Given the description of an element on the screen output the (x, y) to click on. 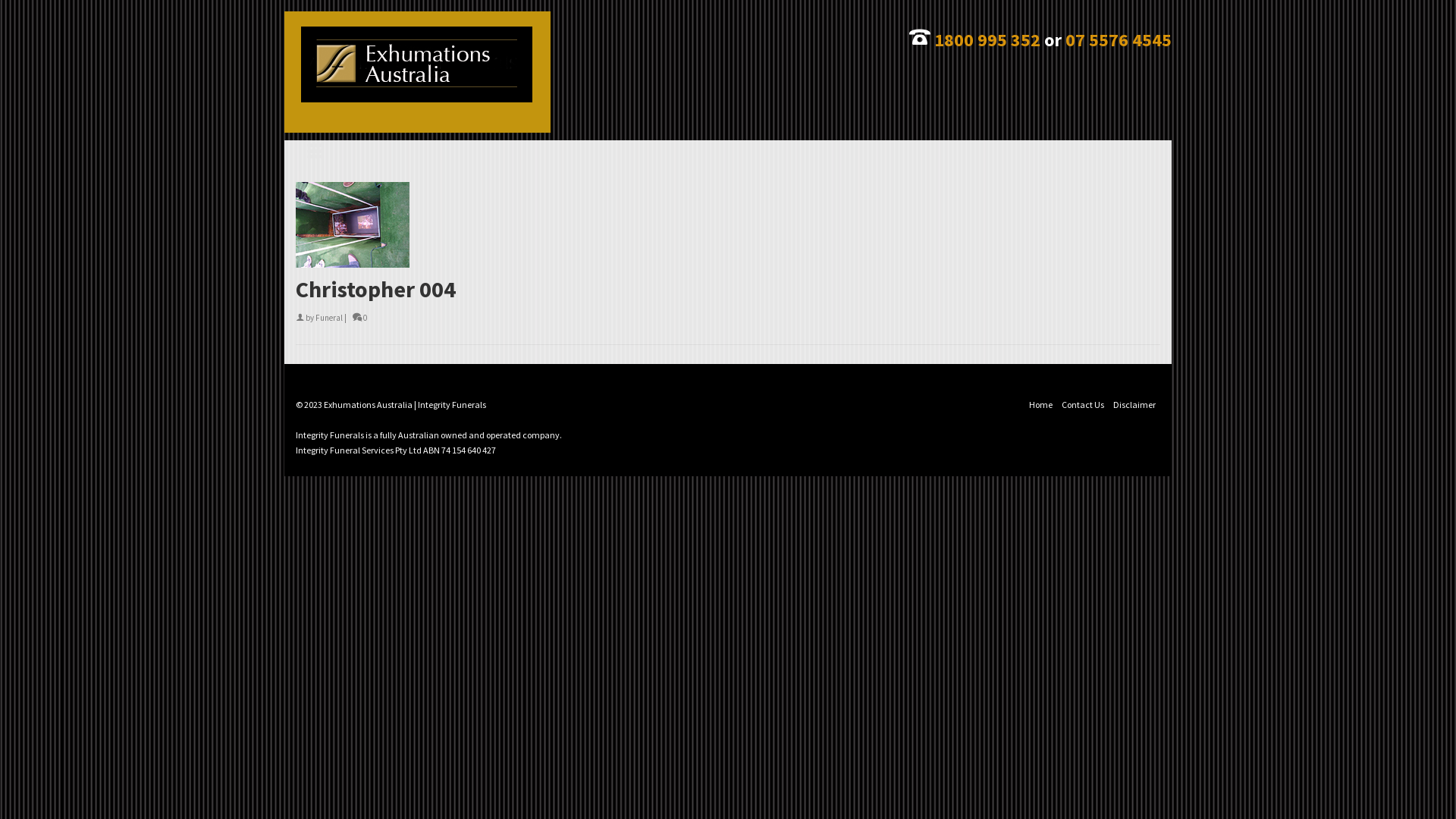
Christopher 004 Element type: text (727, 288)
1800 995 352 Element type: text (987, 39)
07 5576 4545 Element type: text (1118, 39)
Home Element type: text (1040, 404)
Contact Us Element type: text (1082, 404)
0 Element type: text (359, 317)
Disclaimer Element type: text (1134, 404)
Funeral Element type: text (328, 317)
